Given the description of an element on the screen output the (x, y) to click on. 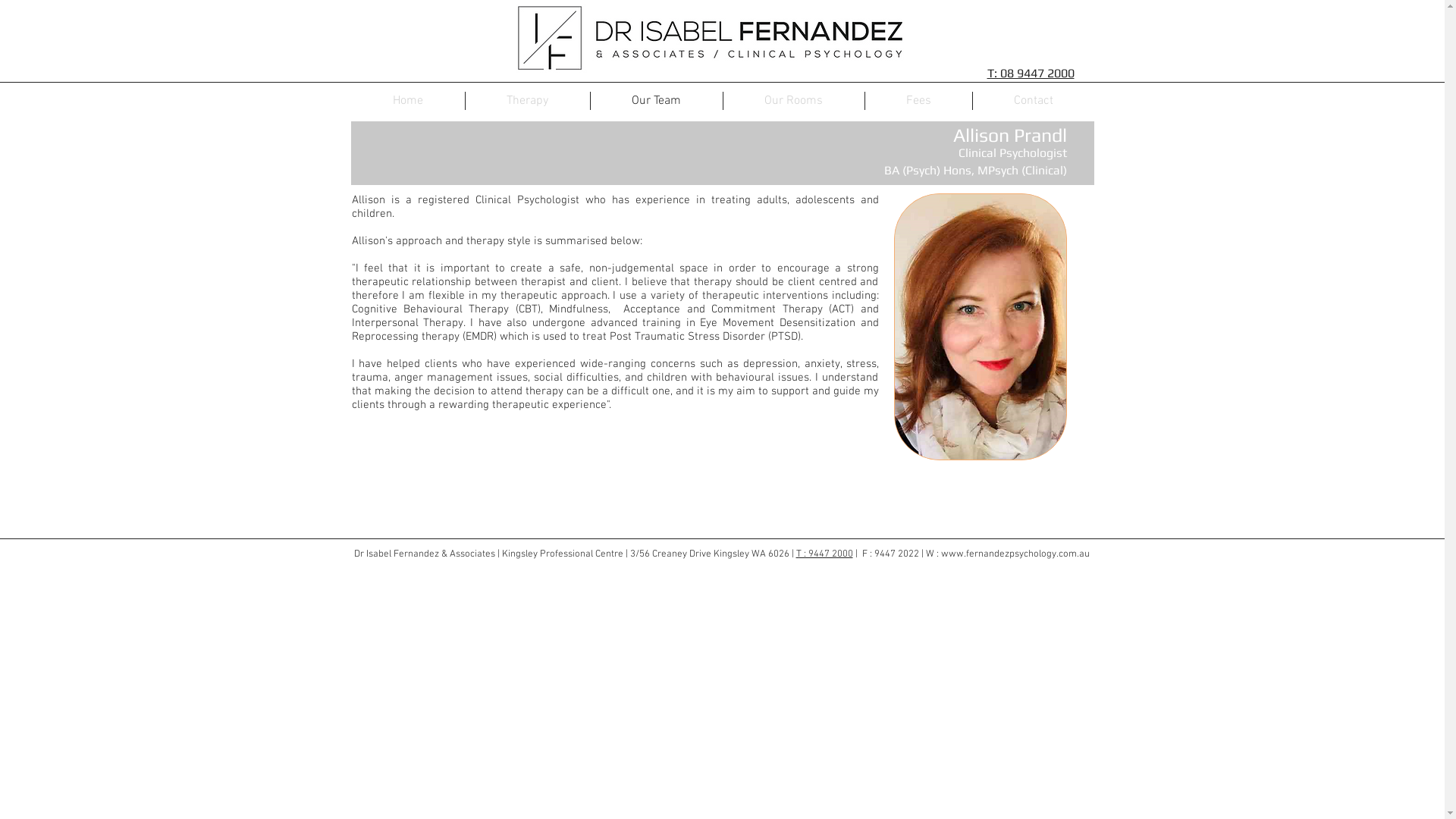
Therapy Element type: text (527, 100)
Contact Element type: text (1032, 100)
Our Rooms Element type: text (793, 100)
Home Element type: text (407, 100)
T: 08 9447 2000 Element type: text (1030, 72)
www.fernandezpsychology.com.au Element type: text (1014, 554)
Our Team Element type: text (655, 100)
Fees Element type: text (917, 100)
T : 9447 2000 Element type: text (824, 554)
